Given the description of an element on the screen output the (x, y) to click on. 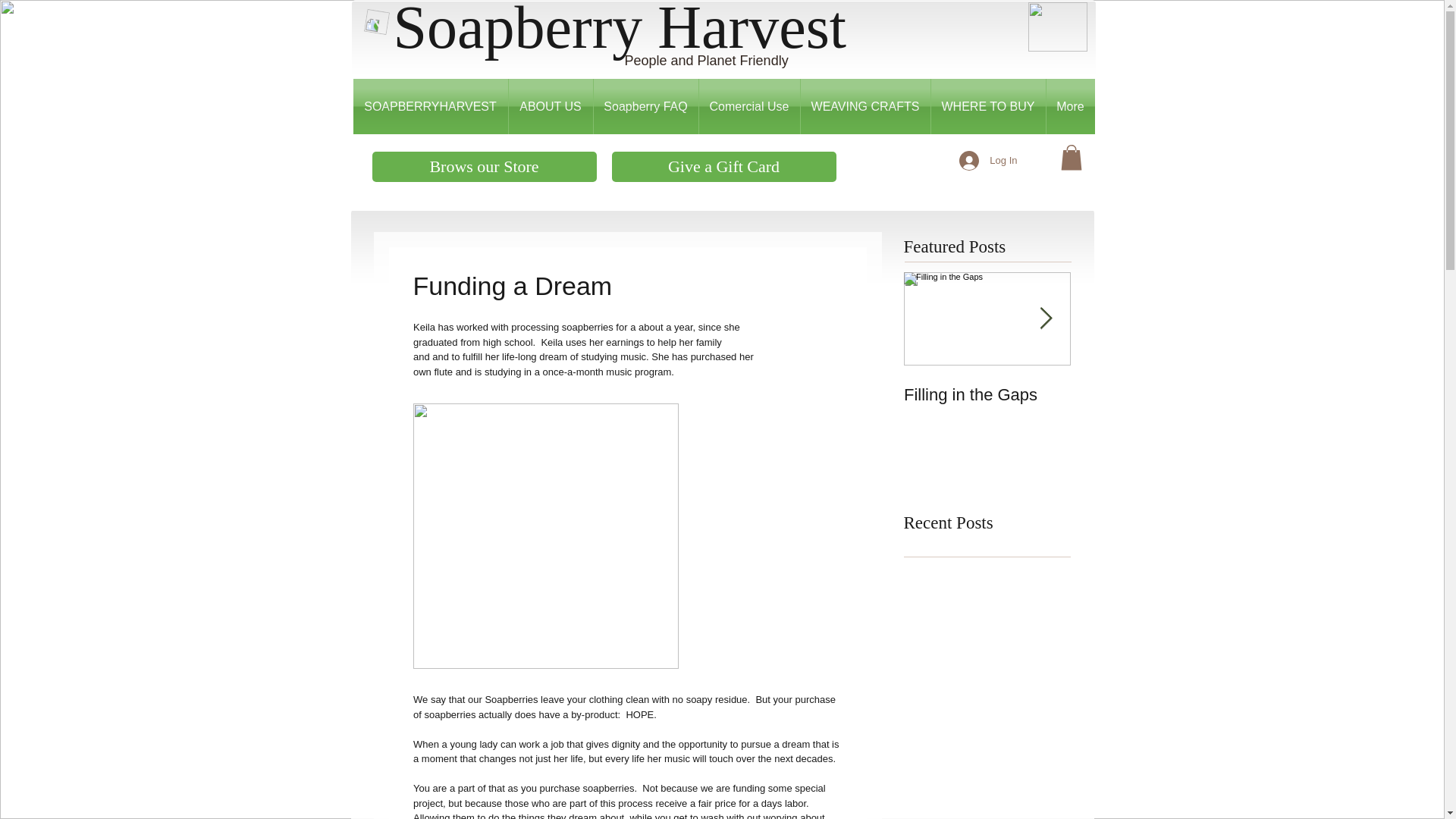
Soapberry FAQ (644, 106)
Comercial Use (748, 106)
WEAVING CRAFTS (865, 106)
Log In (988, 159)
Filling in the Gaps (987, 394)
Brows our Store (483, 166)
SOAPBERRYHARVEST (430, 106)
I used to dread washing my bed sheets (1153, 414)
Give a Gift Card (723, 166)
WHERE TO BUY (988, 106)
